Given the description of an element on the screen output the (x, y) to click on. 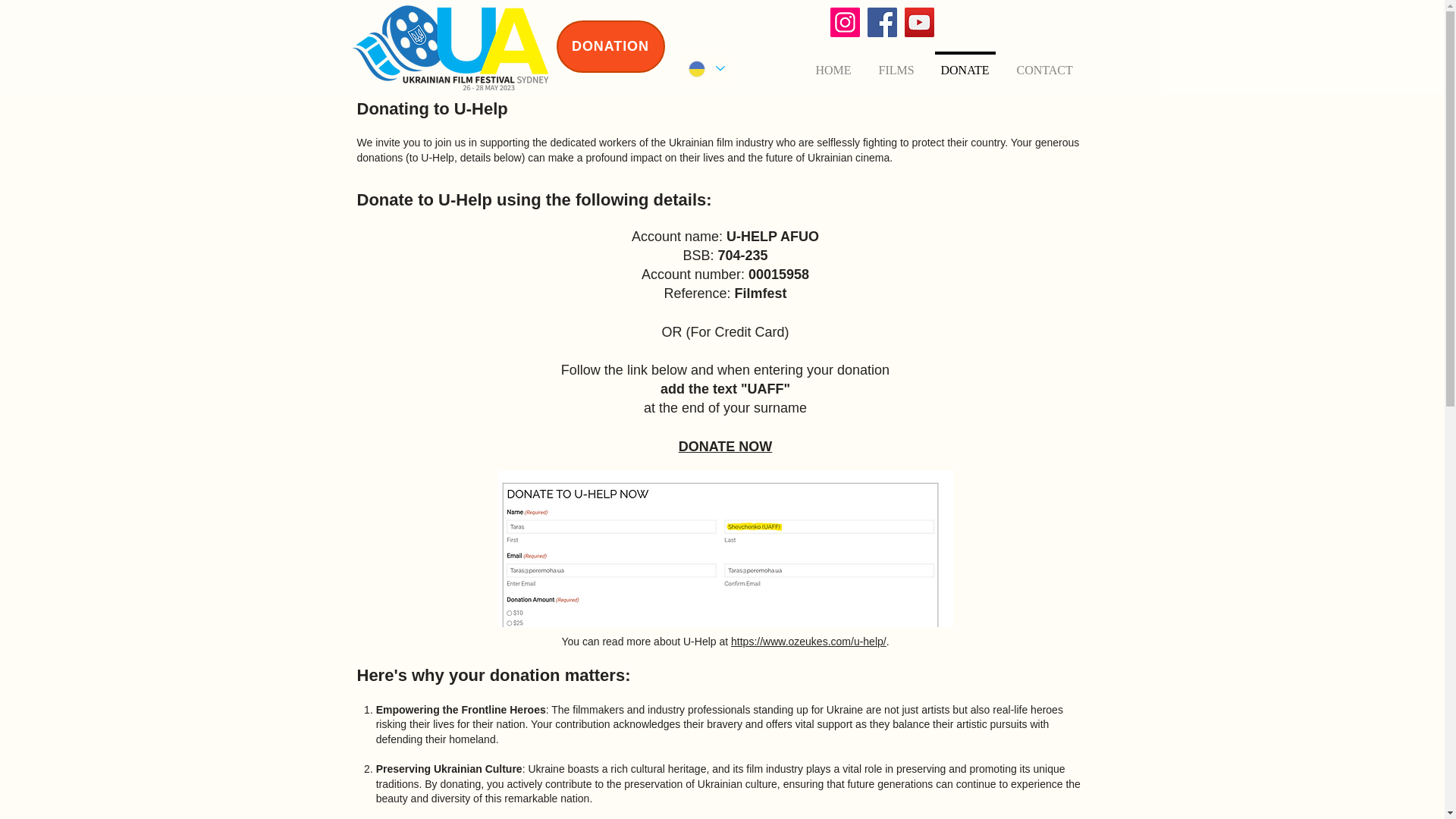
CONTACT (1044, 63)
FILMS (895, 63)
DONATE NOW (725, 446)
DONATE (964, 63)
HOME (832, 63)
DONATION (610, 46)
